Given the description of an element on the screen output the (x, y) to click on. 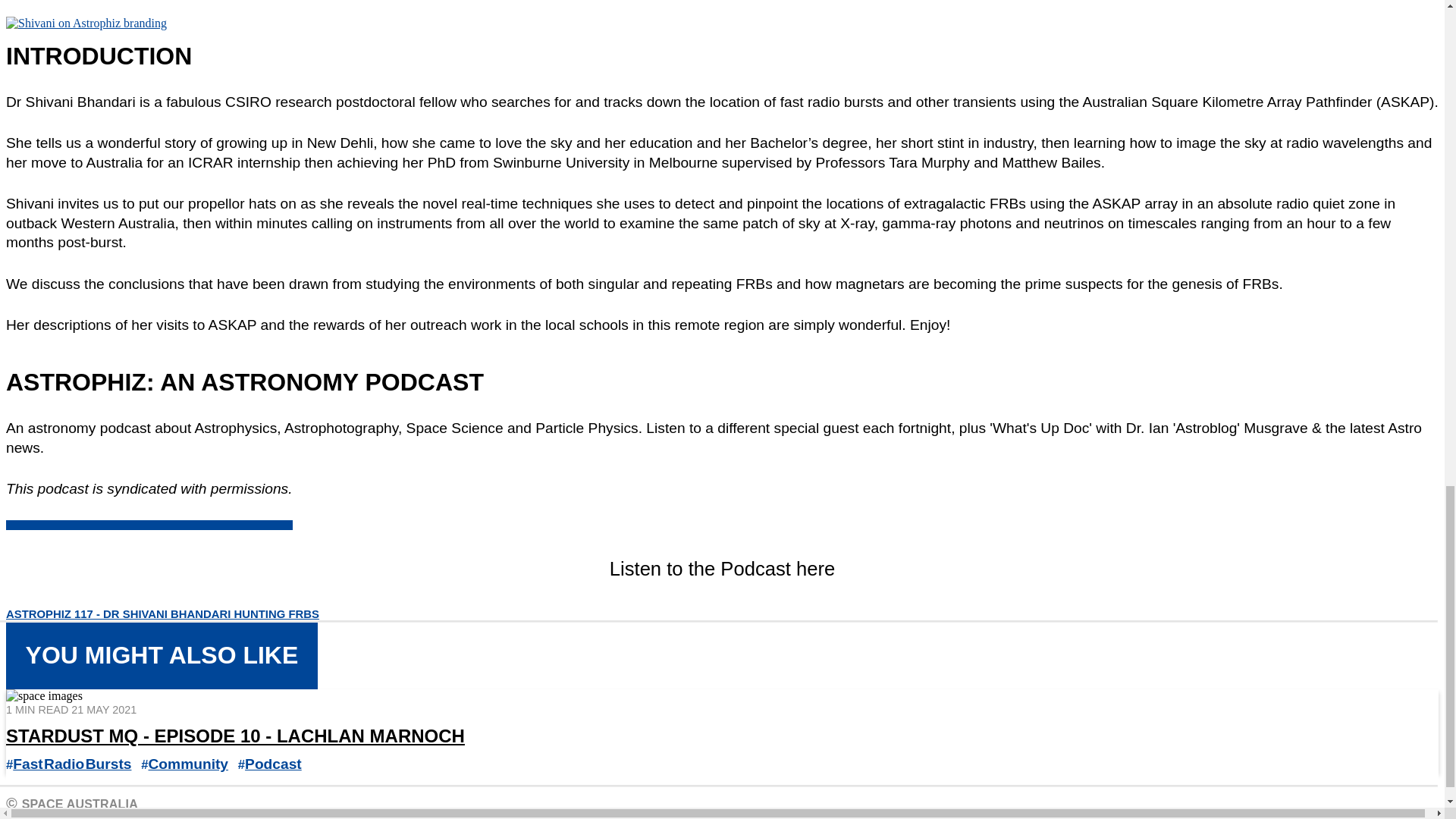
STARDUST MQ - EPISODE 10 - LACHLAN MARNOCH (234, 735)
Podcast (272, 763)
ASTROPHIZ 117 - DR SHIVANI BHANDARI HUNTING FRBS (161, 613)
Community (188, 763)
Fast Radio Bursts (72, 763)
